Given the description of an element on the screen output the (x, y) to click on. 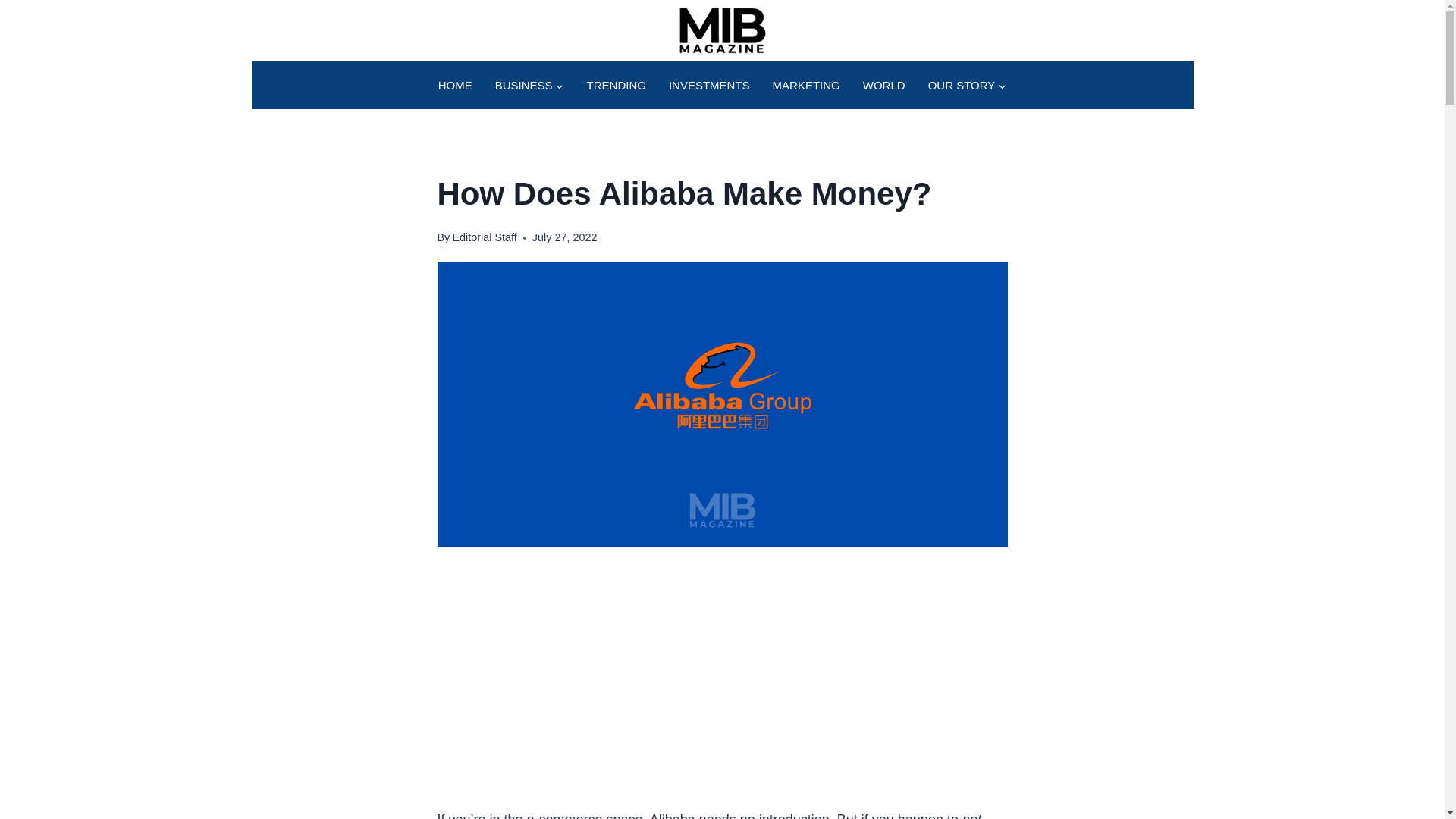
Advertisement (721, 676)
TRENDING (616, 85)
BUSINESS (529, 85)
OUR STORY (967, 85)
MARKETING (806, 85)
INVESTMENTS (709, 85)
Editorial Staff (483, 236)
WORLD (884, 85)
HOME (454, 85)
